Given the description of an element on the screen output the (x, y) to click on. 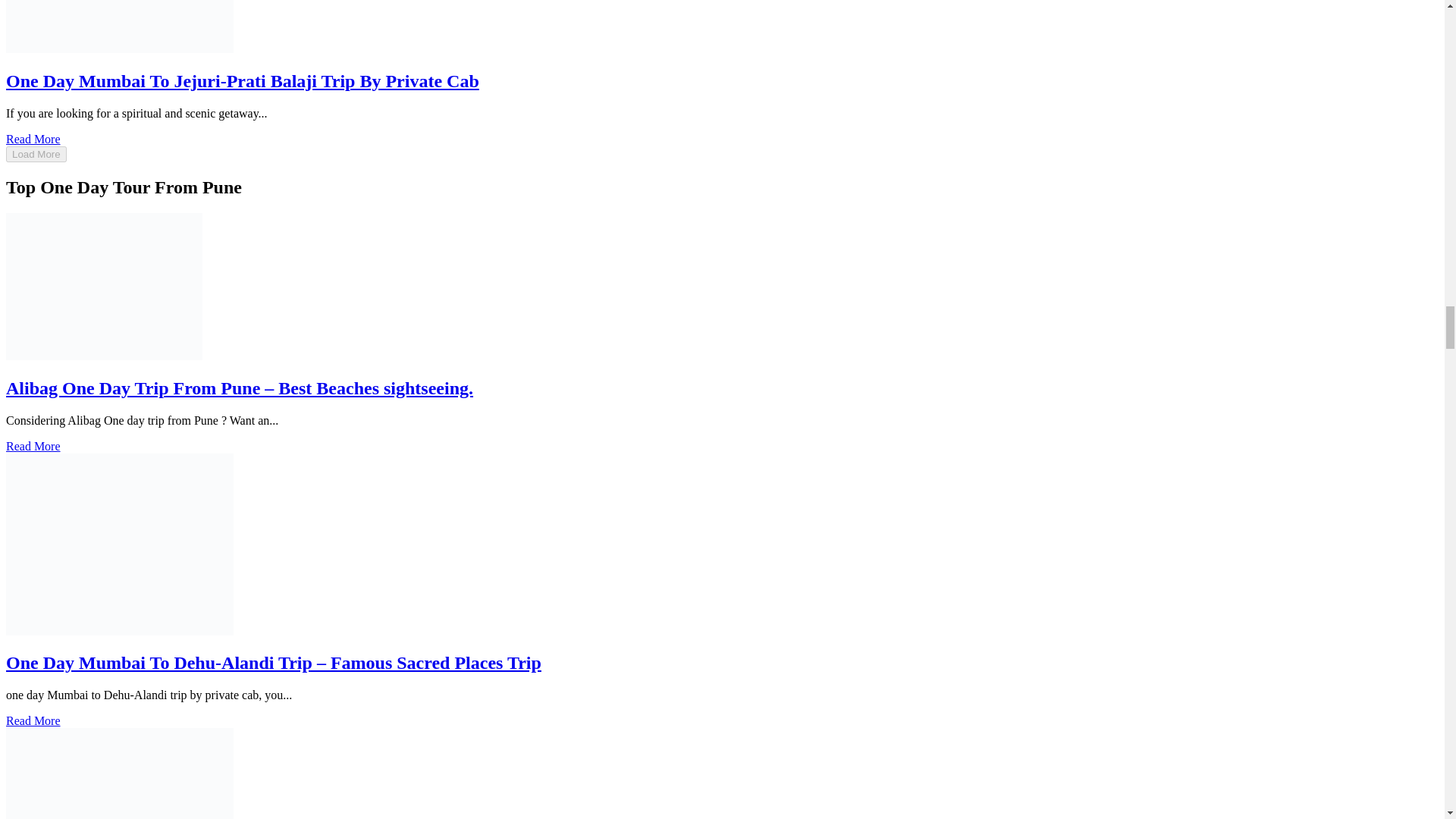
One Day Mumbai To Jejuri-Prati Balaji Trip By Private Cab (242, 80)
